Given the description of an element on the screen output the (x, y) to click on. 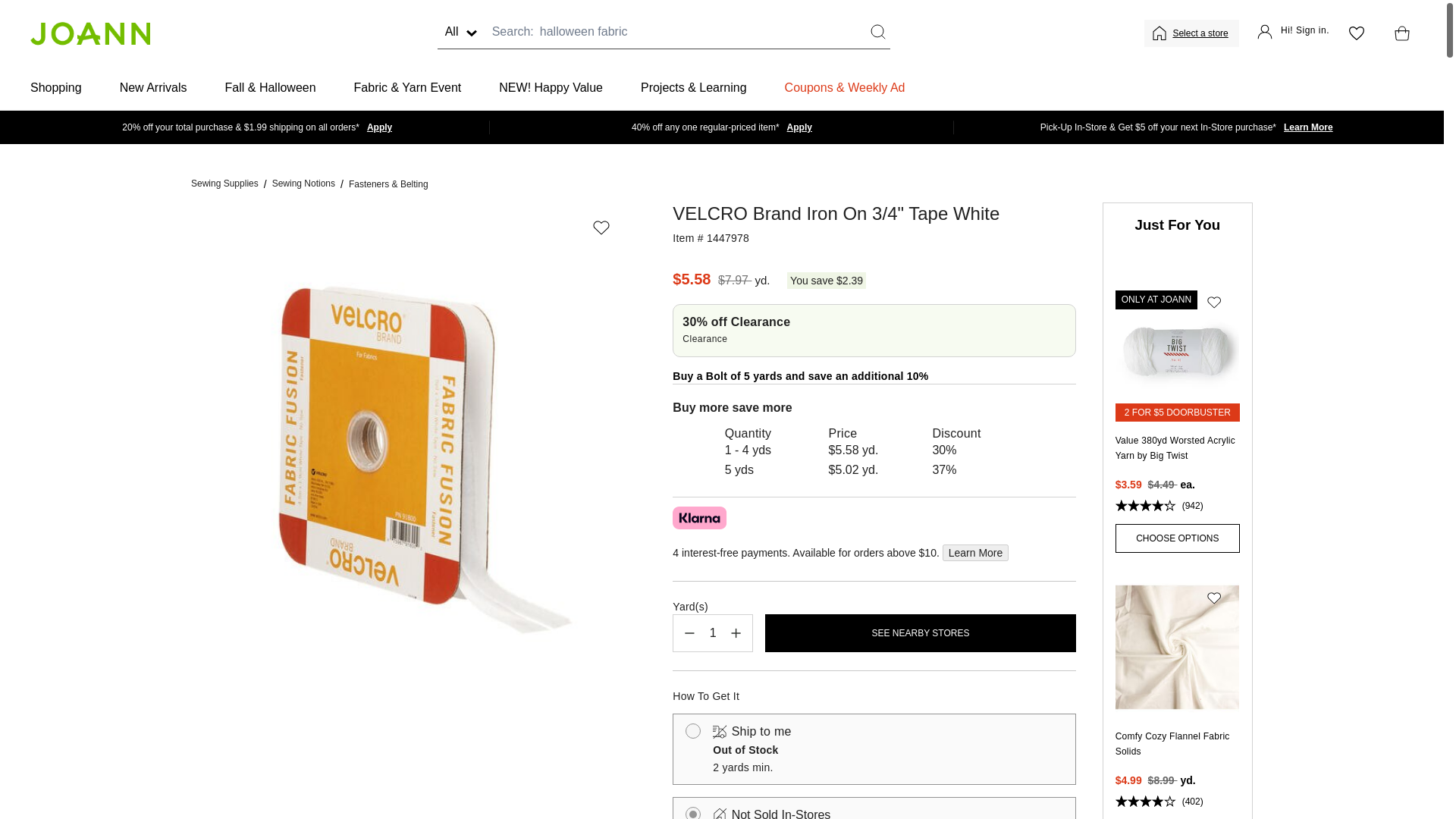
Shopping (55, 87)
Hi! Sign in. (1293, 33)
Favorites (1356, 33)
Select a store (1201, 32)
Hi! Sign in. (1293, 33)
View Cart (1398, 33)
JO-ANN STORES, LLC Home (89, 33)
1 (712, 633)
Sewing Notions (303, 183)
Sewing Supplies (224, 183)
